Given the description of an element on the screen output the (x, y) to click on. 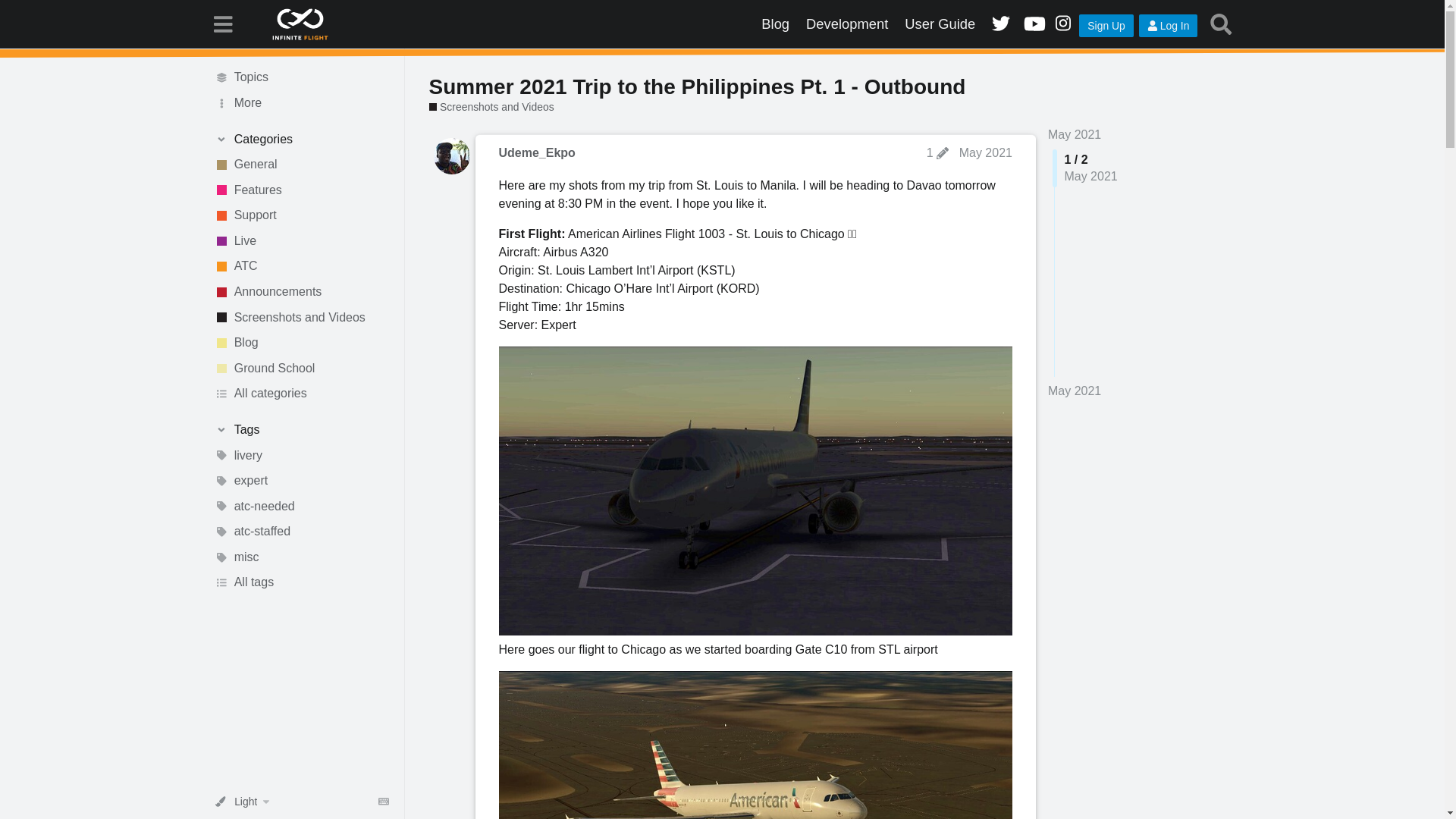
Log In (1168, 25)
atc-needed (301, 506)
Tags (301, 429)
Development (846, 23)
May 2021 (1074, 391)
May 2021 (1074, 133)
All topics (301, 77)
Infinite Flight on Instagram (1062, 24)
Discuss all things Live here! (301, 240)
Infinite Flight Development Timeline (846, 23)
ATC (301, 266)
Topics (301, 77)
